Given the description of an element on the screen output the (x, y) to click on. 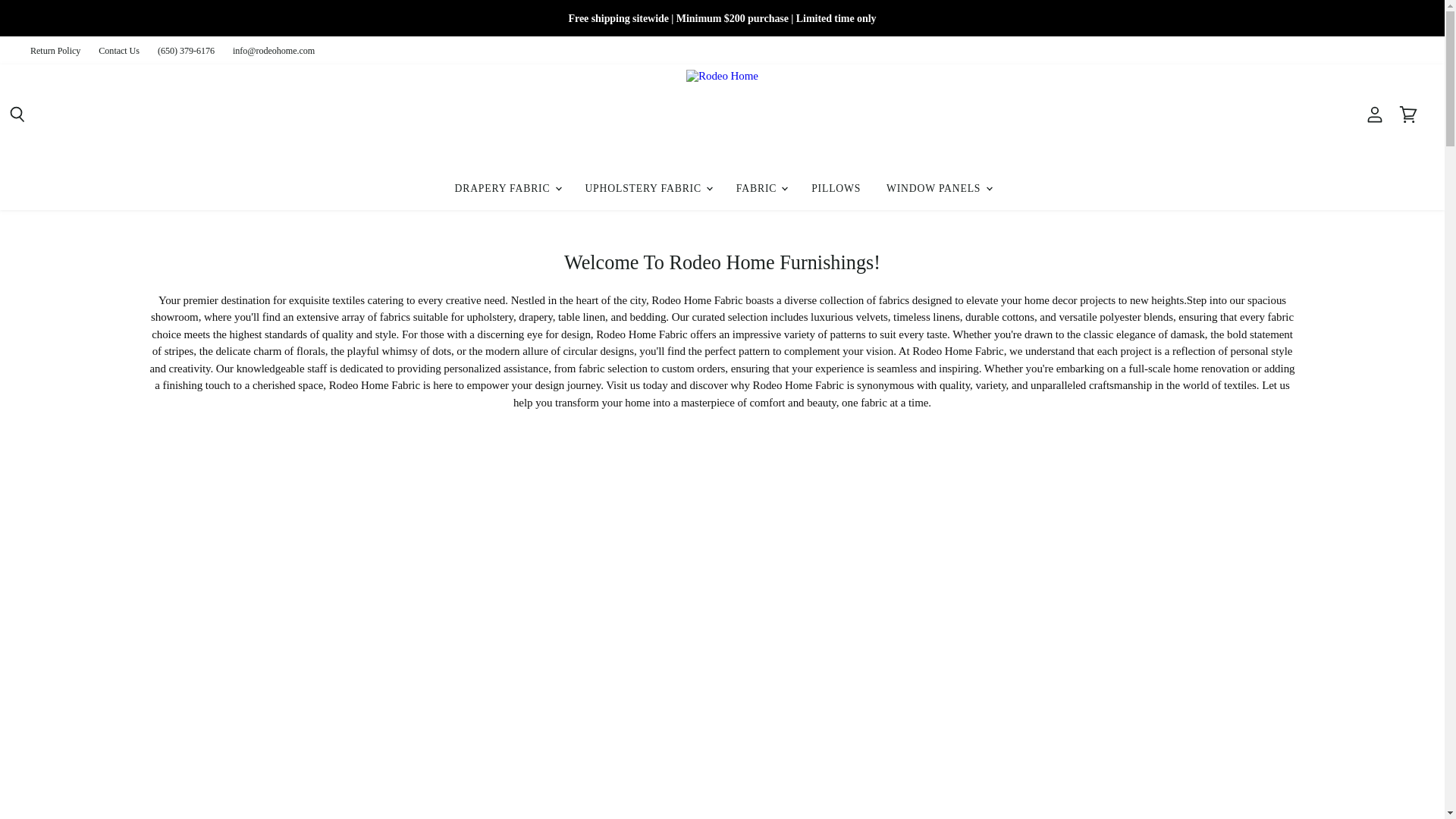
View cart (1408, 114)
DRAPERY FABRIC (506, 187)
View account (1374, 114)
Contact Us (119, 50)
Return Policy (55, 50)
Search (17, 114)
